Given the description of an element on the screen output the (x, y) to click on. 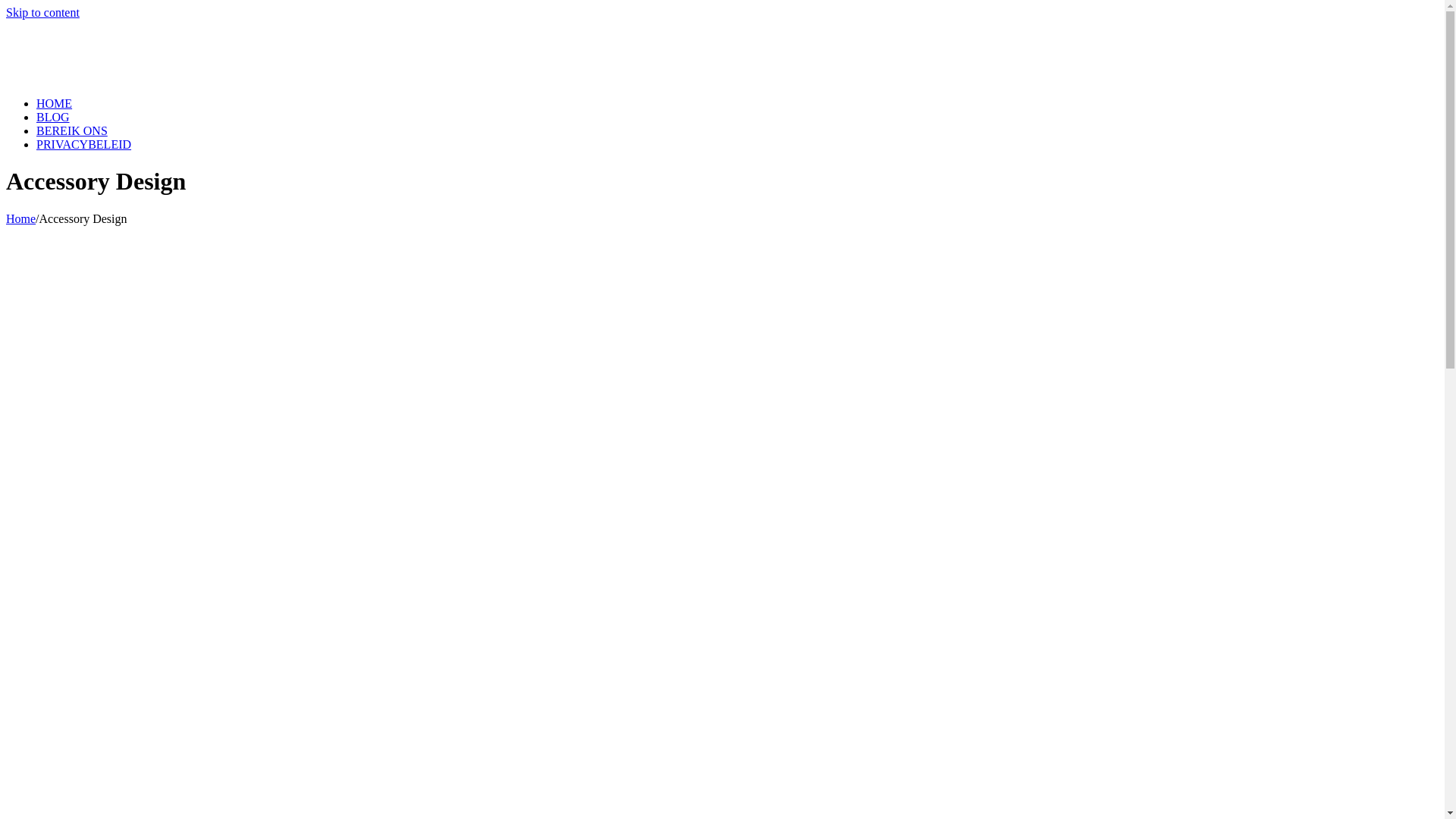
HOME Element type: text (54, 103)
BLOG Element type: text (52, 116)
Home Element type: text (20, 218)
Skip to content Element type: text (42, 12)
PRIVACYBELEID Element type: text (83, 144)
BEREIK ONS Element type: text (71, 130)
